Given the description of an element on the screen output the (x, y) to click on. 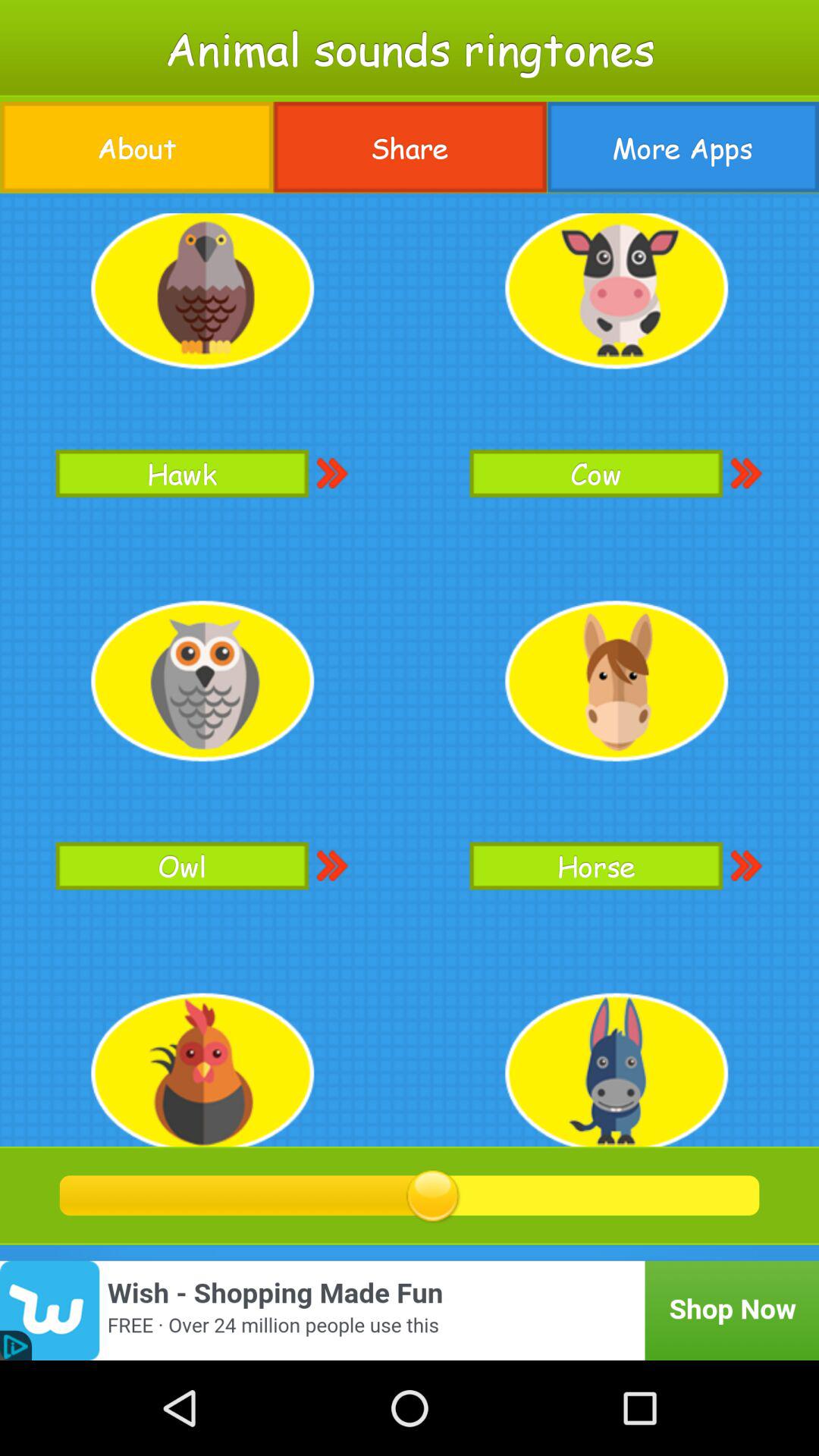
open about item (136, 147)
